Given the description of an element on the screen output the (x, y) to click on. 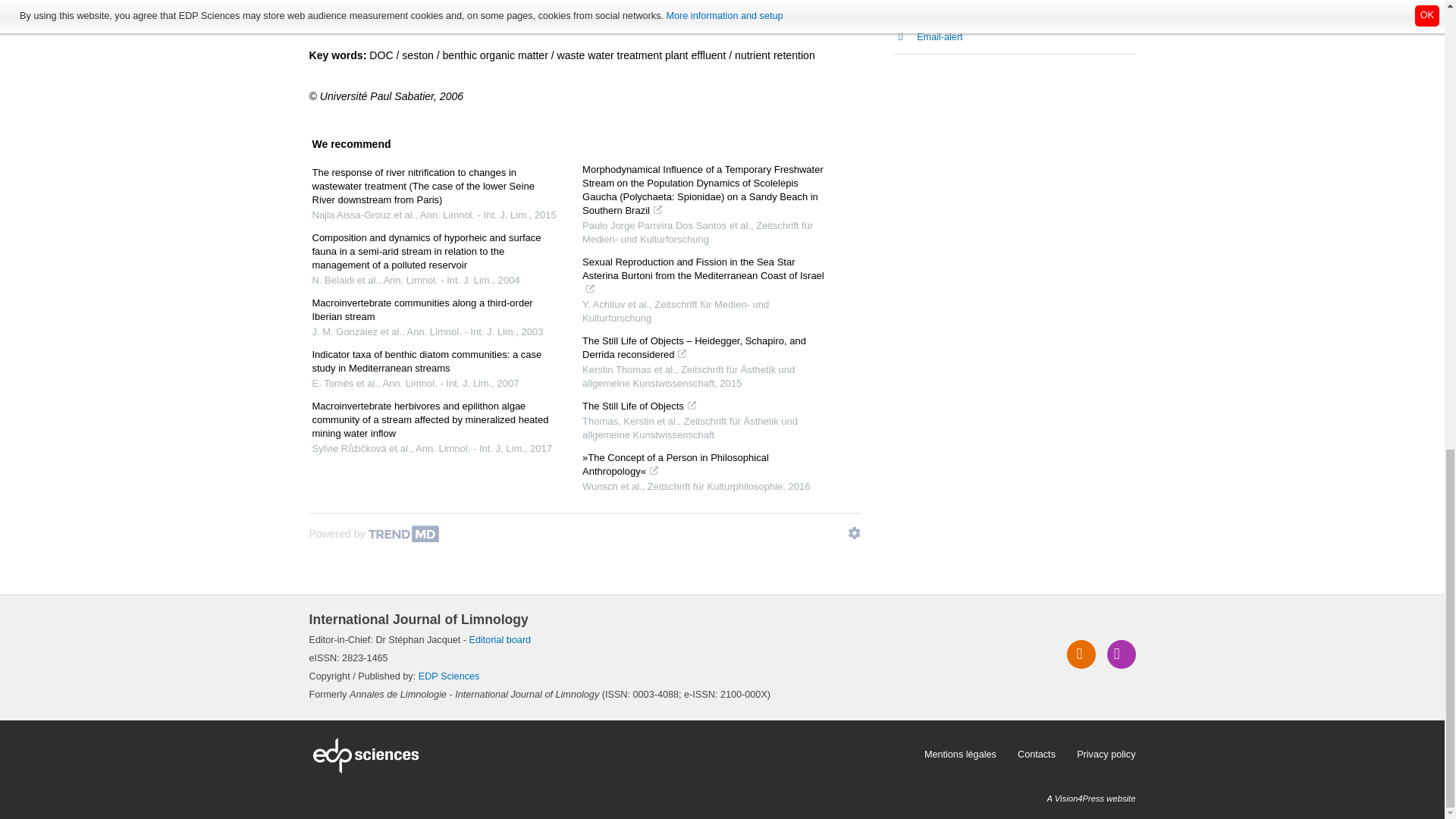
Access our RSS feeds (1081, 654)
Register to the journal email alert (1120, 654)
EDP Sciences website (611, 754)
